Given the description of an element on the screen output the (x, y) to click on. 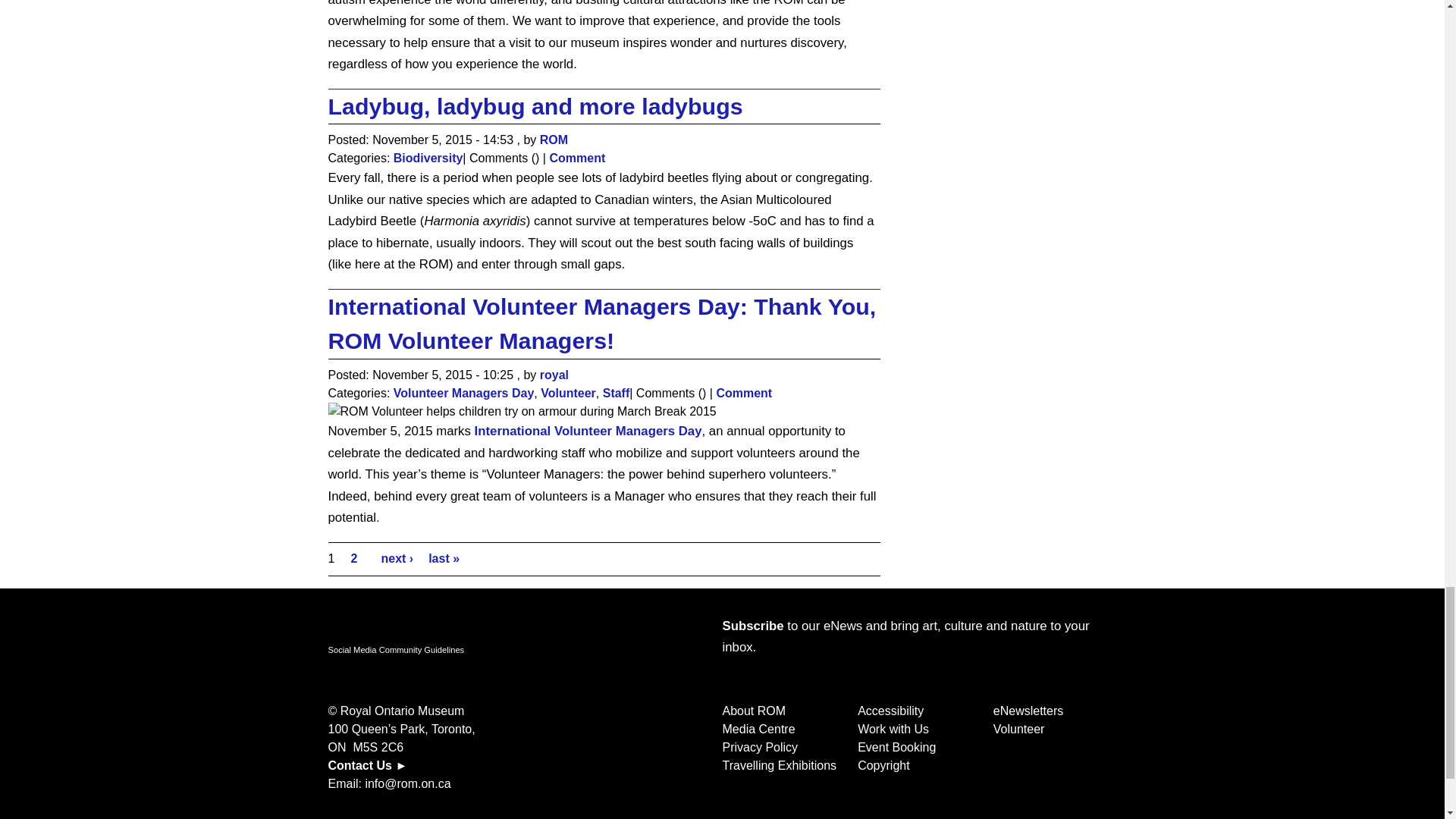
Go to last page (444, 558)
Go to next page (396, 558)
